Given the description of an element on the screen output the (x, y) to click on. 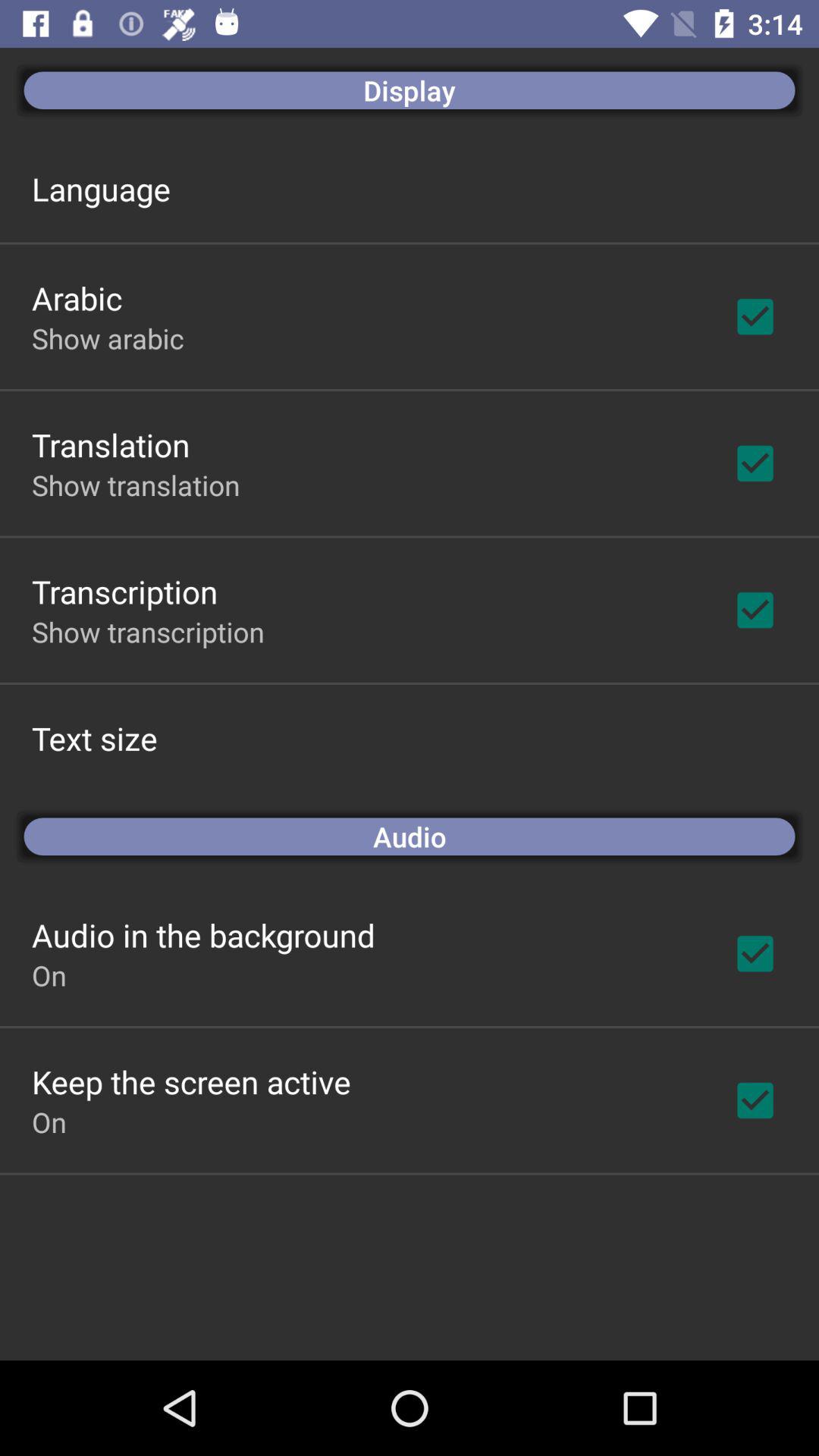
turn on app above on app (190, 1081)
